Given the description of an element on the screen output the (x, y) to click on. 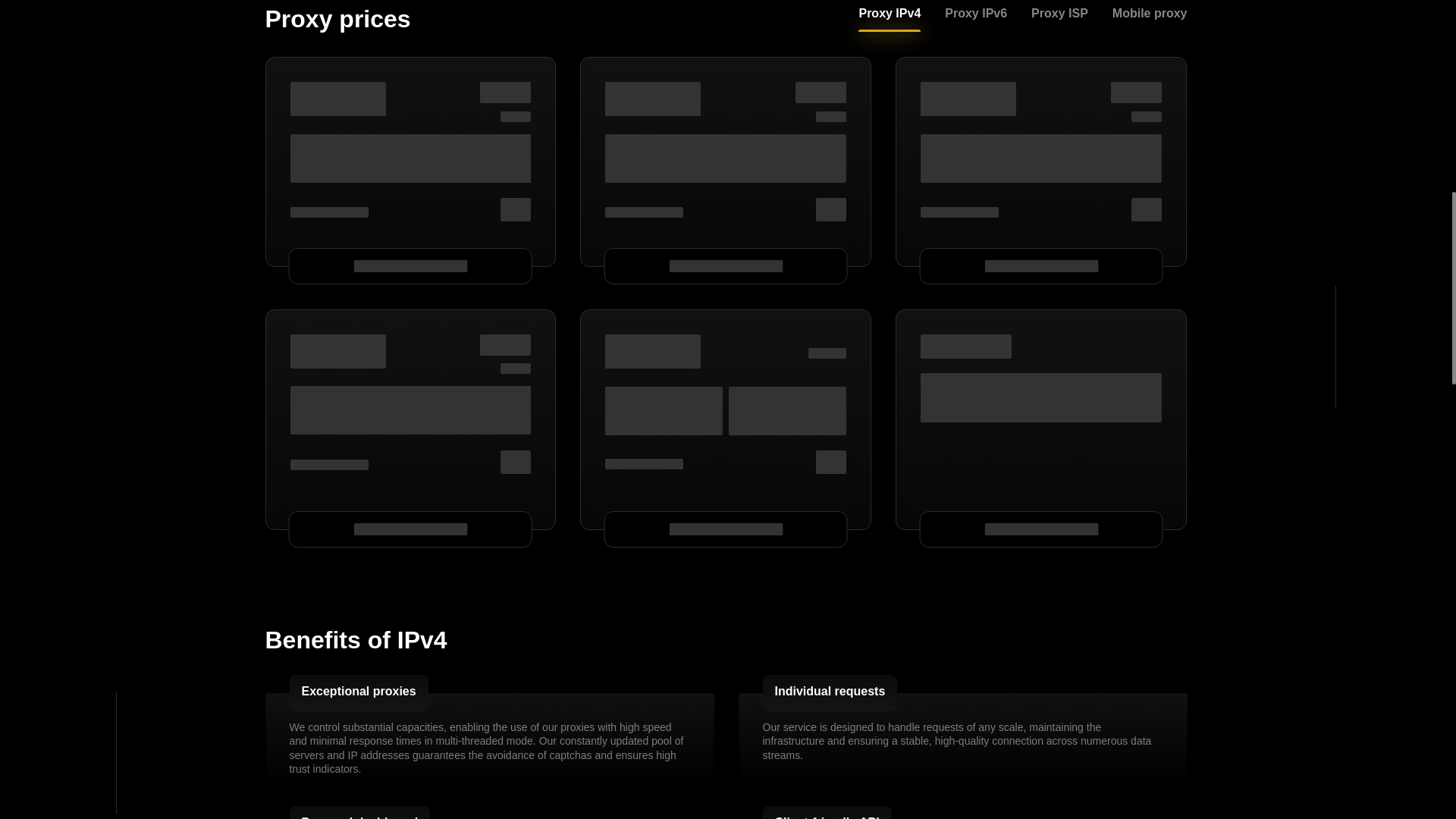
Loading... (515, 209)
Loading... (505, 92)
Loading... (652, 98)
Loading... (410, 158)
Loading... (337, 98)
Loading... (819, 92)
Loading... (725, 158)
